Given the description of an element on the screen output the (x, y) to click on. 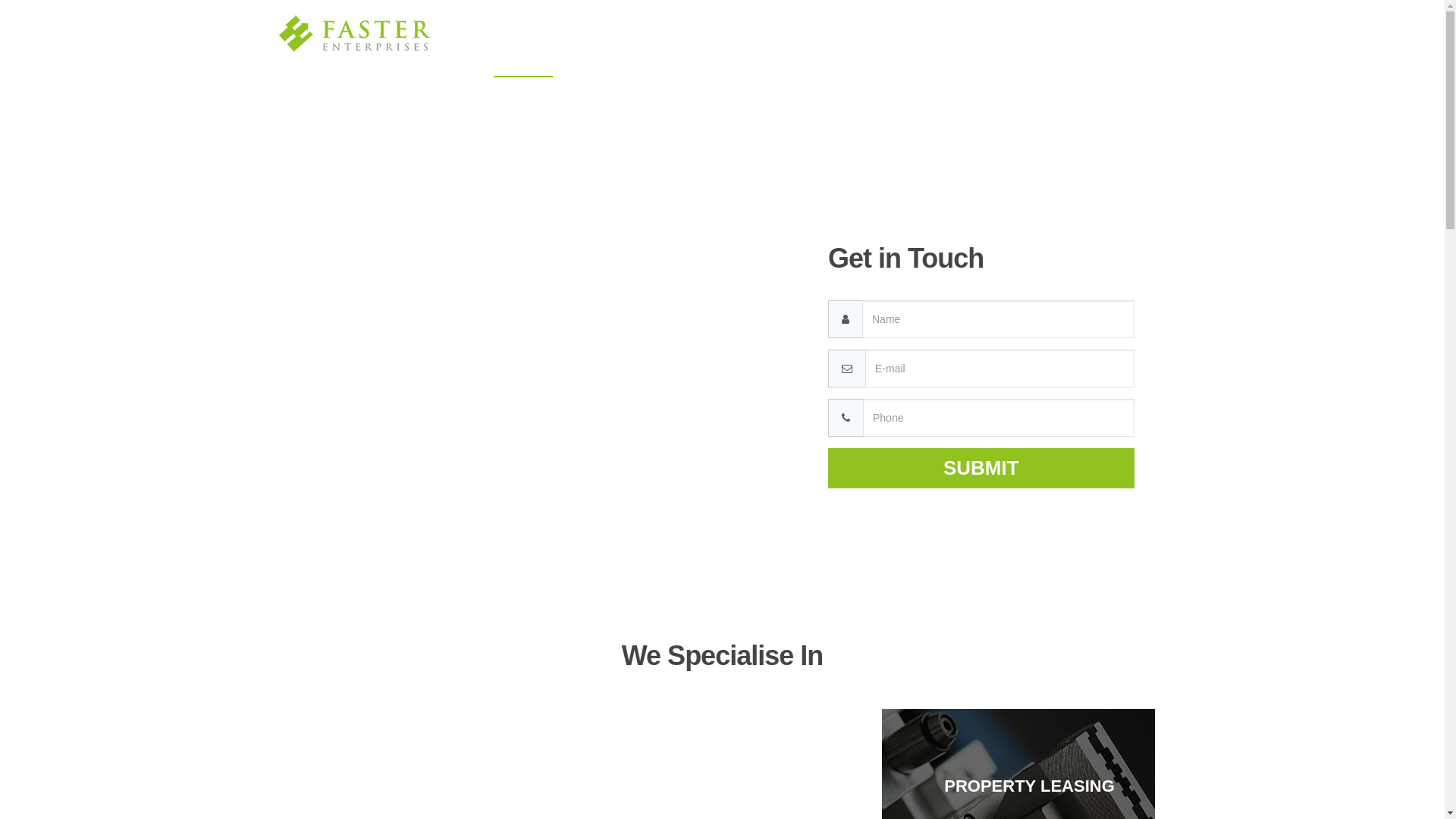
SECURITIES TRADING Element type: text (871, 56)
SUBMIT Element type: text (981, 468)
INVESTOR RELATIONS Element type: text (717, 56)
PROJECTS Element type: text (596, 56)
HOME Element type: text (522, 57)
CONTACT US Element type: text (1104, 56)
SHARE PRICE Element type: text (1001, 56)
